Given the description of an element on the screen output the (x, y) to click on. 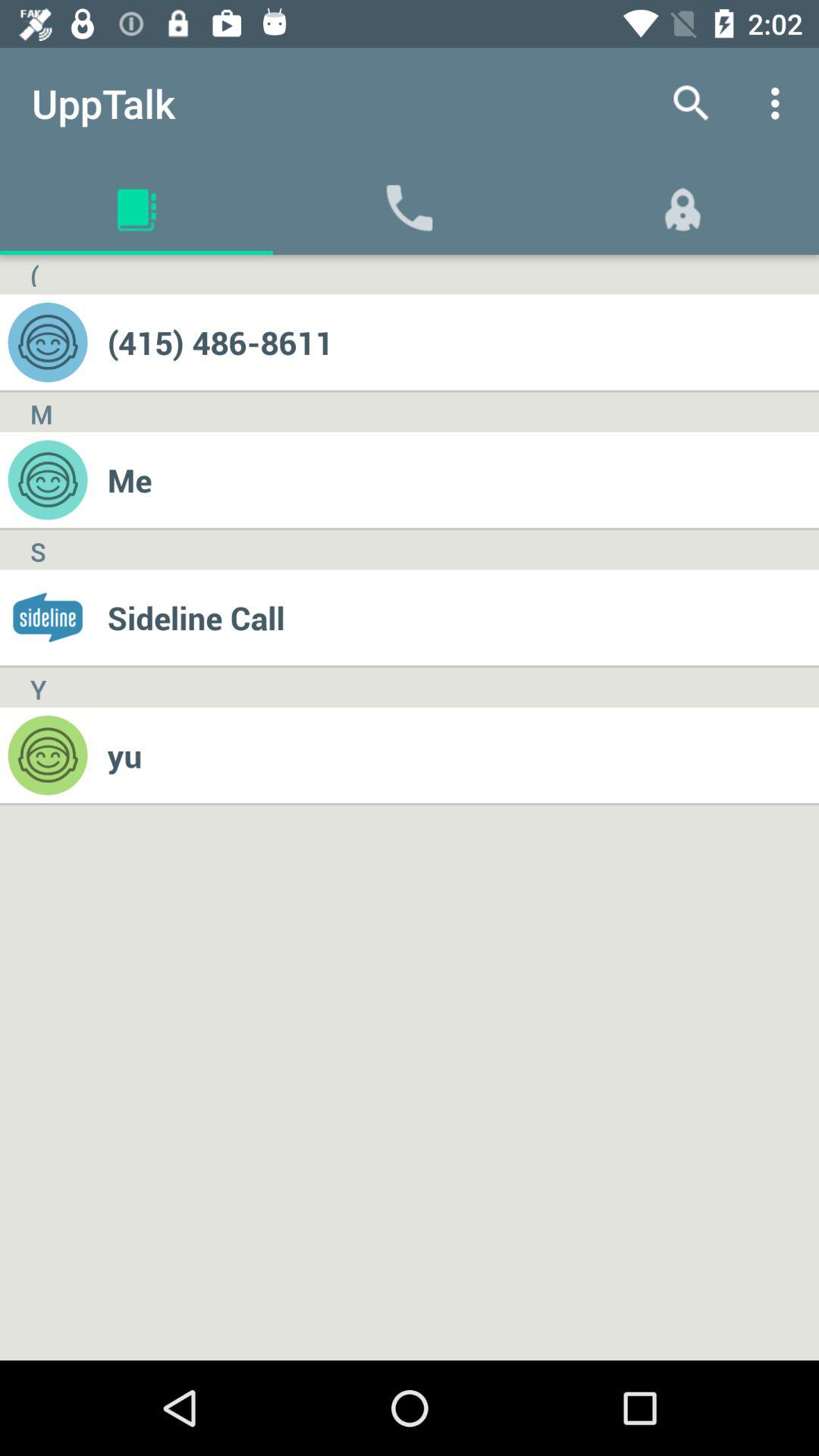
select me icon (463, 479)
